Given the description of an element on the screen output the (x, y) to click on. 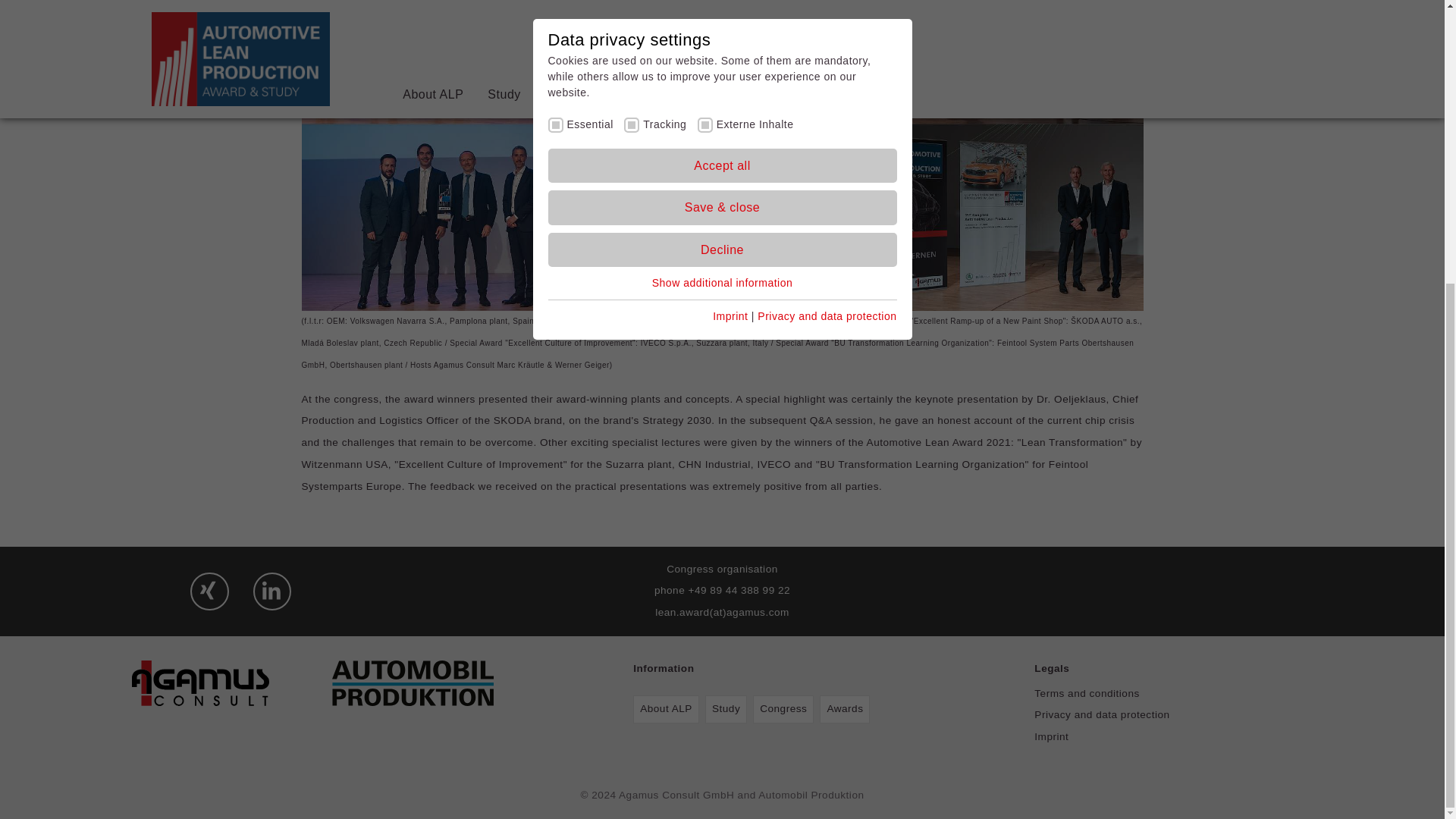
Privacy and data protection (1101, 714)
About ALP (665, 709)
LinkedIn (267, 593)
Congress (785, 712)
Awards (847, 712)
Study (725, 709)
About ALP (668, 712)
Xing (203, 593)
About ALP (668, 712)
Study (728, 712)
